Given the description of an element on the screen output the (x, y) to click on. 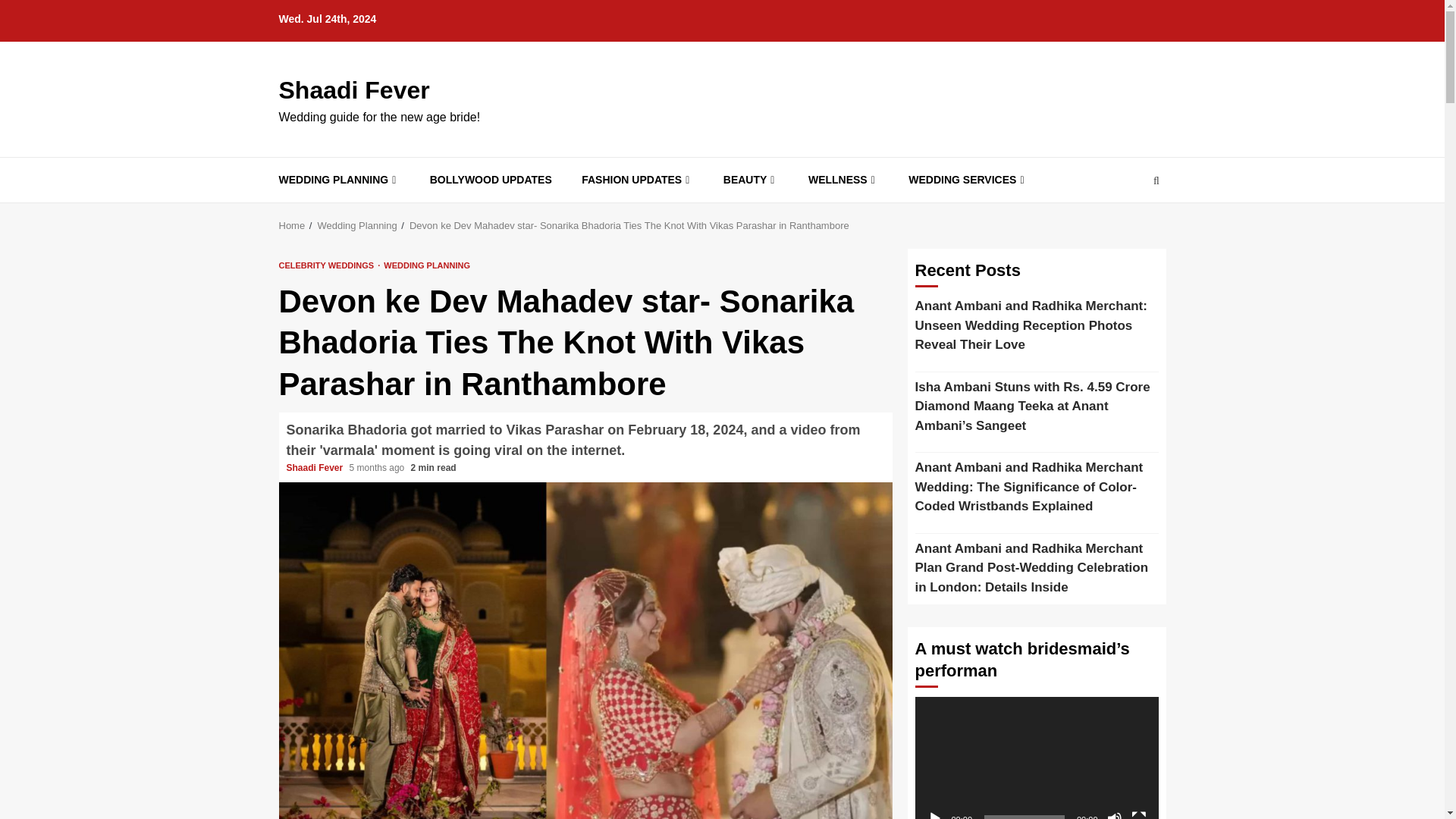
Search (1126, 225)
WEDDING PLANNING (427, 265)
BOLLYWOOD UPDATES (490, 179)
WEDDING PLANNING (339, 179)
CELEBRITY WEDDINGS (329, 265)
Home (292, 225)
BEAUTY (750, 179)
Play (934, 815)
Wedding Planning (356, 225)
FASHION UPDATES (636, 179)
Shaadi Fever (316, 467)
WELLNESS (843, 179)
Mute (1114, 815)
WEDDING SERVICES (967, 179)
